Given the description of an element on the screen output the (x, y) to click on. 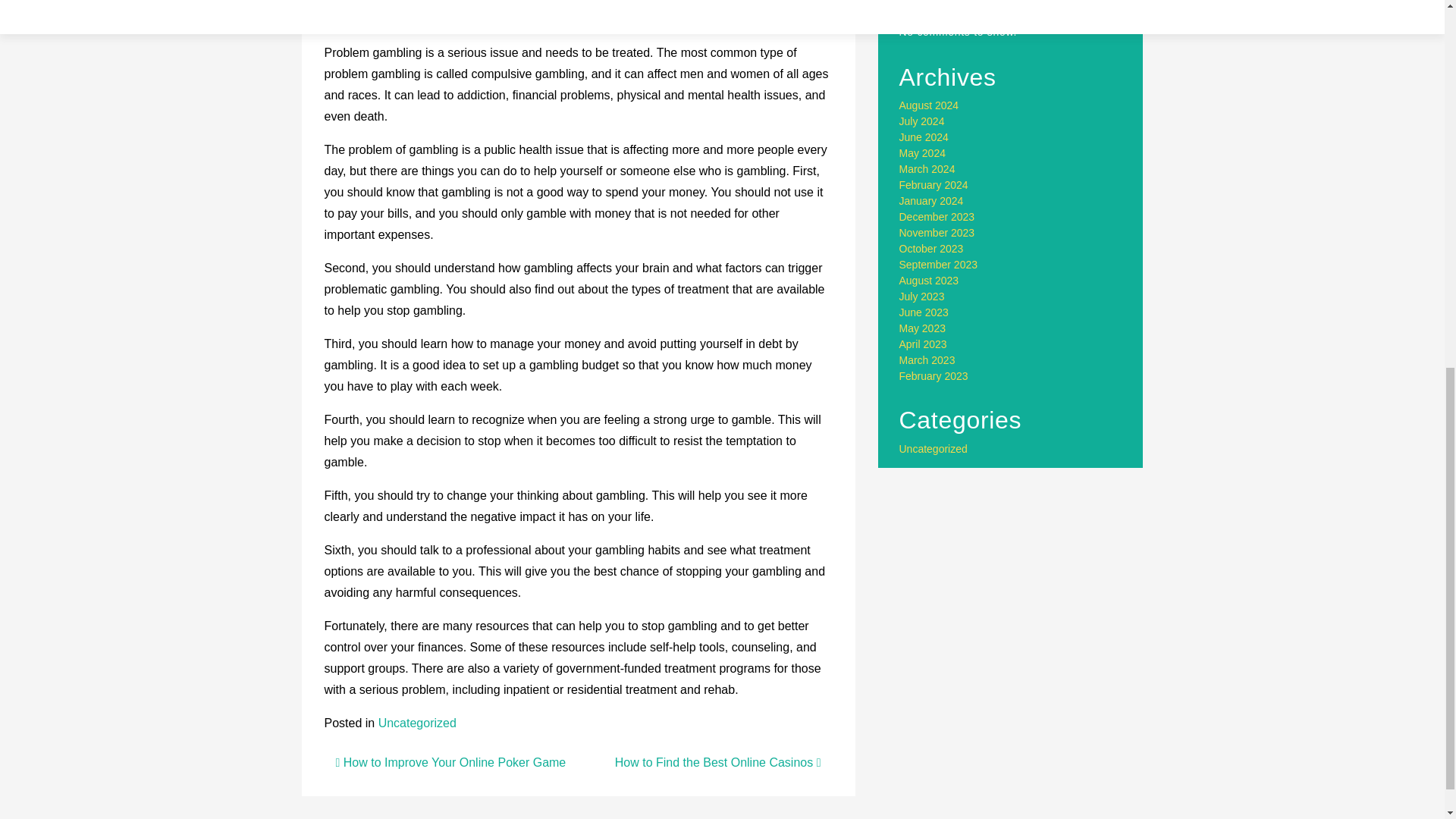
How to Find the Best Online Casinos  (717, 762)
July 2023 (921, 296)
 How to Improve Your Online Poker Game (450, 762)
May 2024 (921, 152)
November 2023 (937, 232)
March 2024 (927, 168)
February 2023 (933, 376)
September 2023 (938, 264)
February 2024 (933, 184)
June 2023 (924, 312)
